Given the description of an element on the screen output the (x, y) to click on. 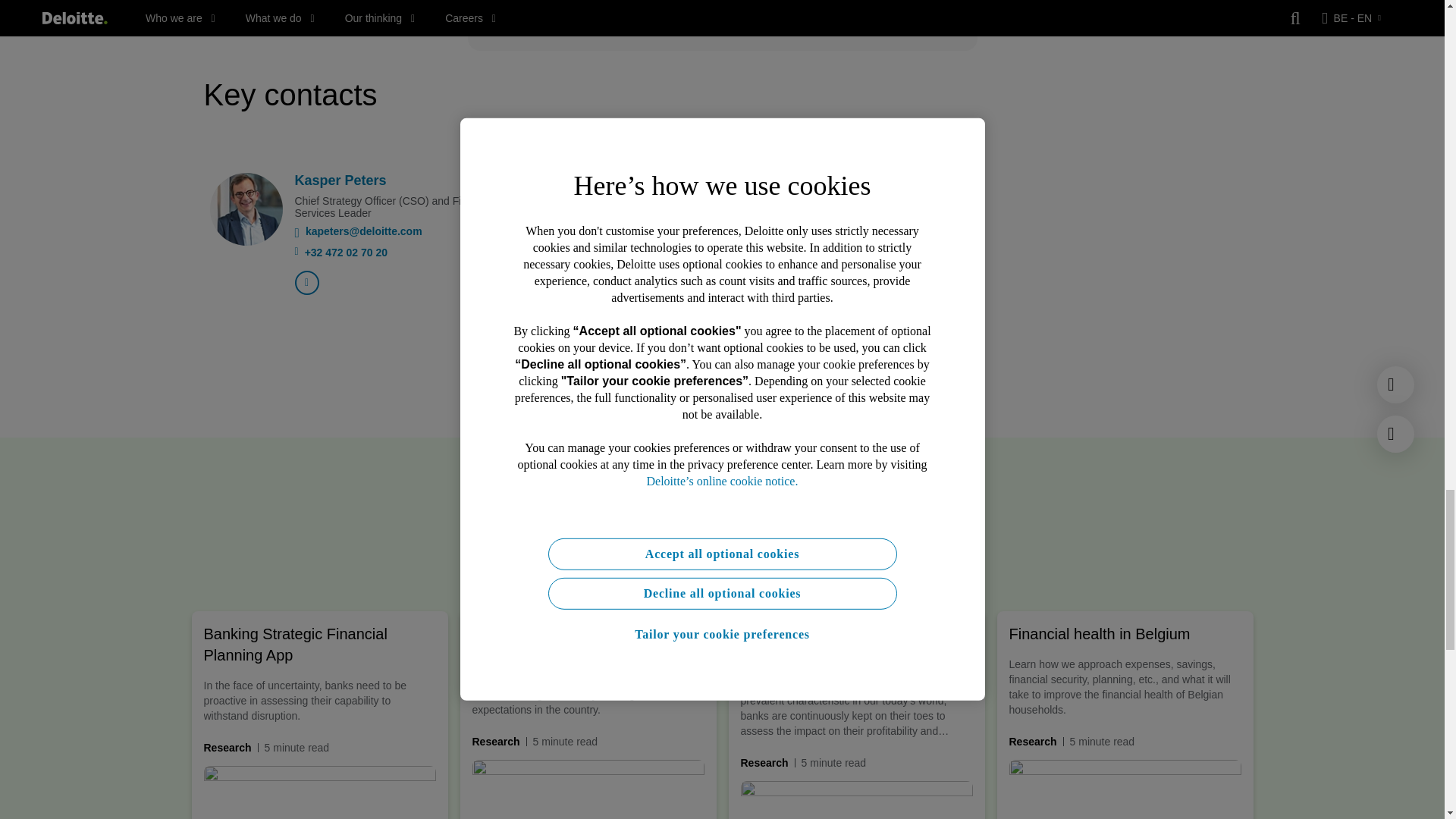
connect via linkedin (306, 282)
